Given the description of an element on the screen output the (x, y) to click on. 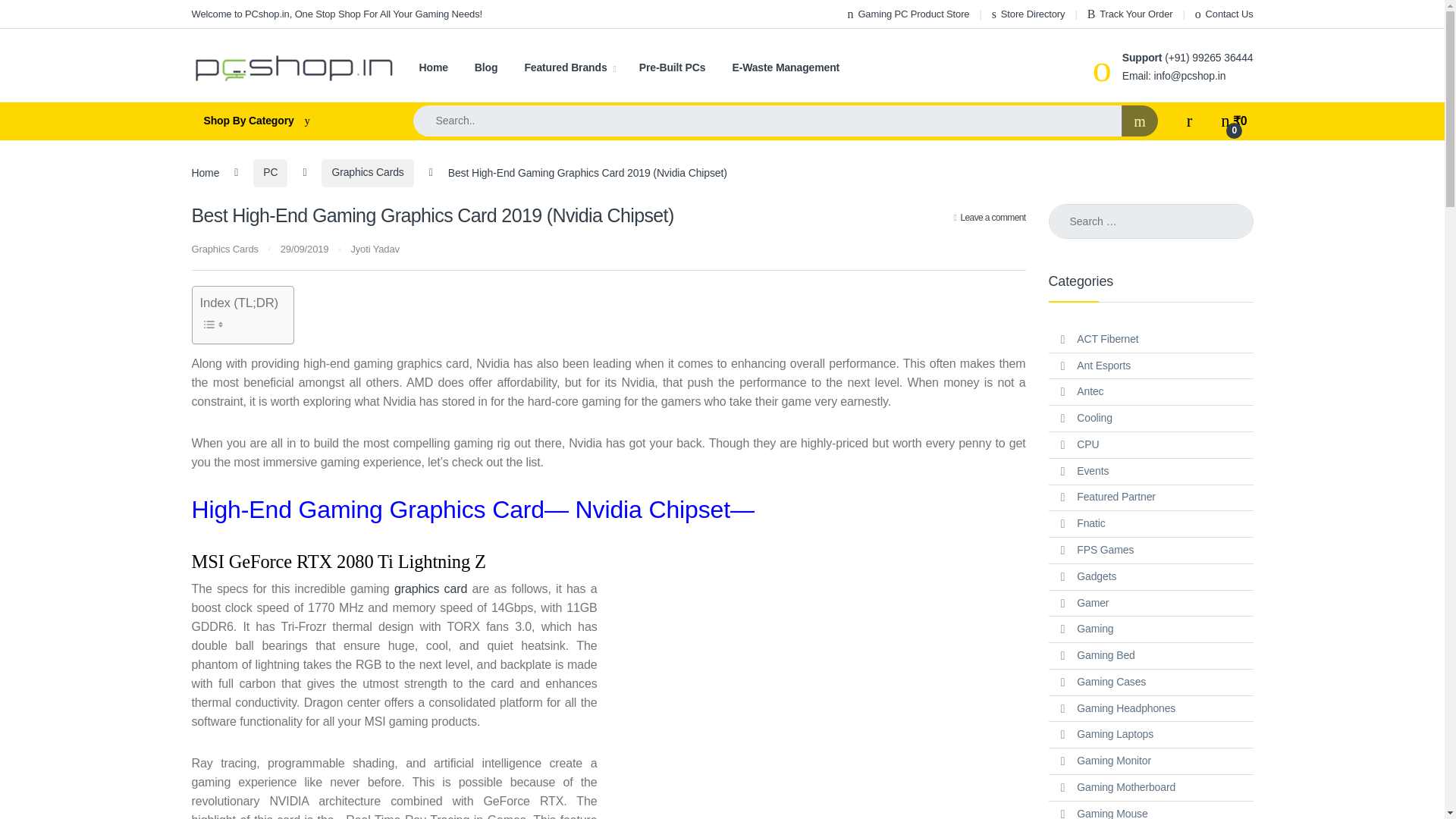
Store Directory (1028, 13)
Gaming PC Product Store (908, 13)
Contact Us (1224, 13)
Track Your Order (1130, 13)
Store Directory (1028, 13)
Gaming PC Product Store (908, 13)
Track Your Order (1130, 13)
Contact Us (1224, 13)
